Given the description of an element on the screen output the (x, y) to click on. 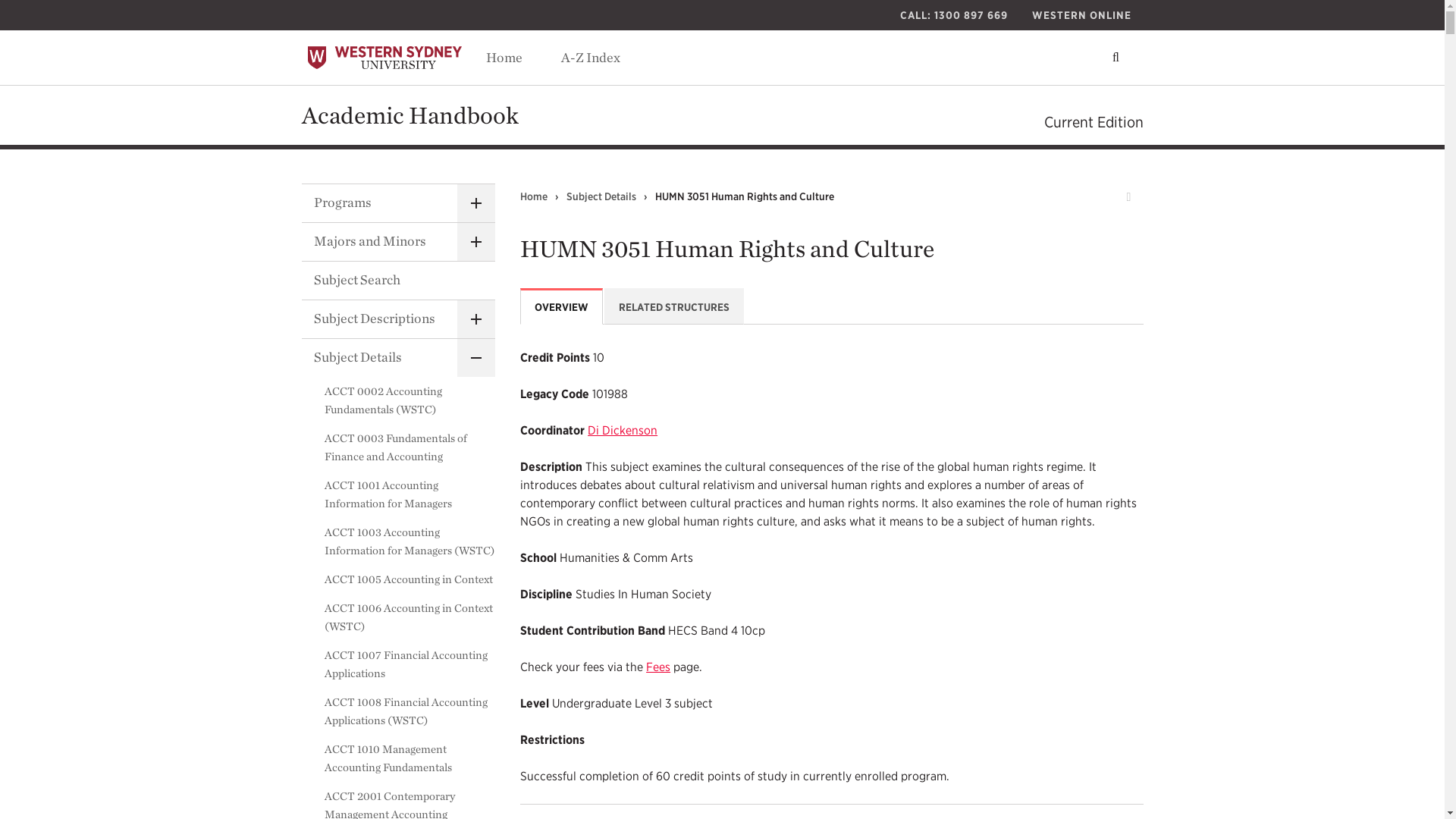
Programs (398, 202)
WESTERN ONLINE (1080, 15)
Home (502, 57)
CALL: 1300 897 669 (952, 15)
Academic Handbook (409, 114)
A-Z Index (590, 57)
Toggle search (1115, 57)
Toggle Programs (476, 202)
Current Edition (1092, 122)
